Given the description of an element on the screen output the (x, y) to click on. 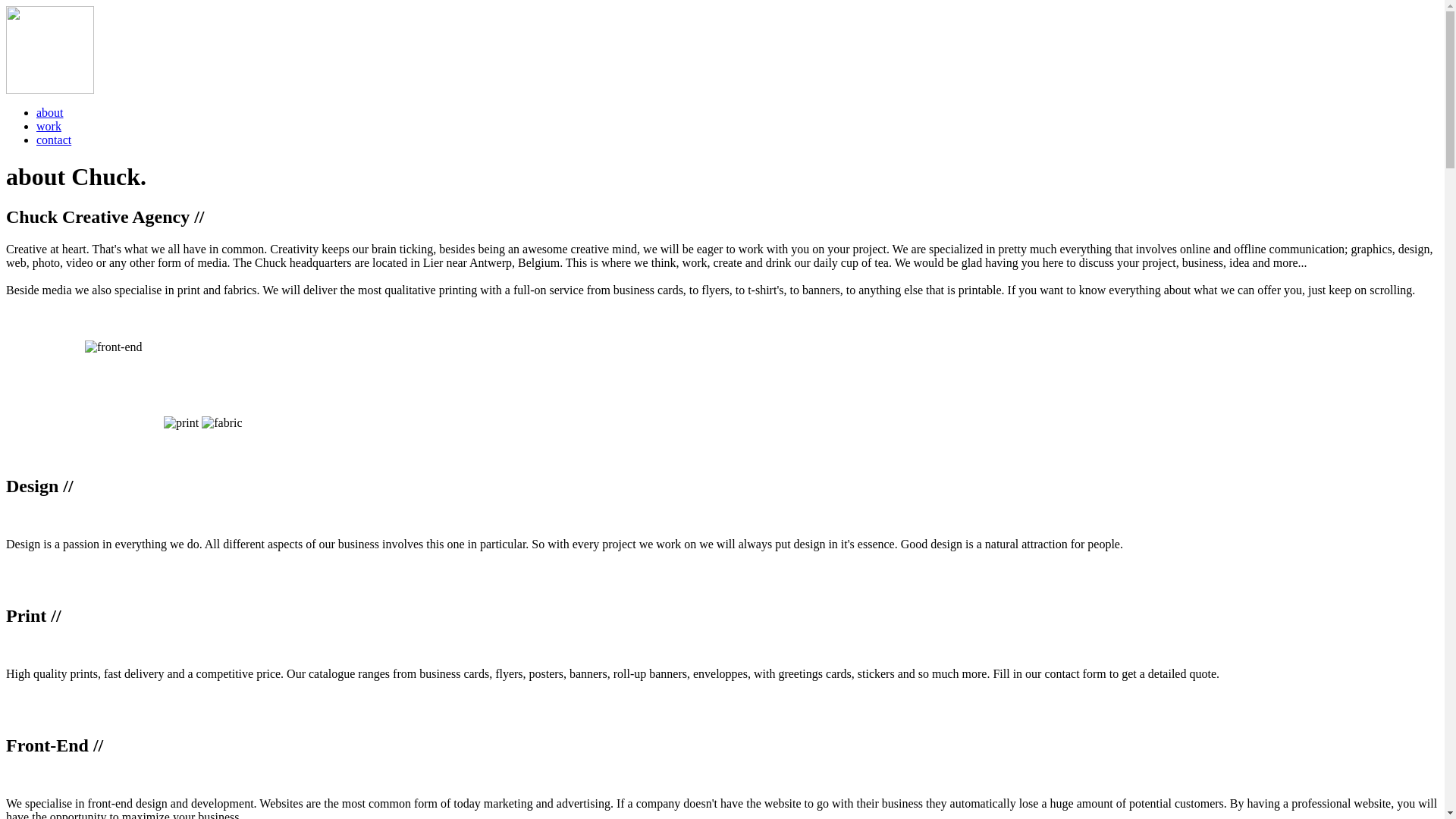
contact Element type: text (53, 139)
work Element type: text (48, 125)
about Element type: text (49, 112)
